Given the description of an element on the screen output the (x, y) to click on. 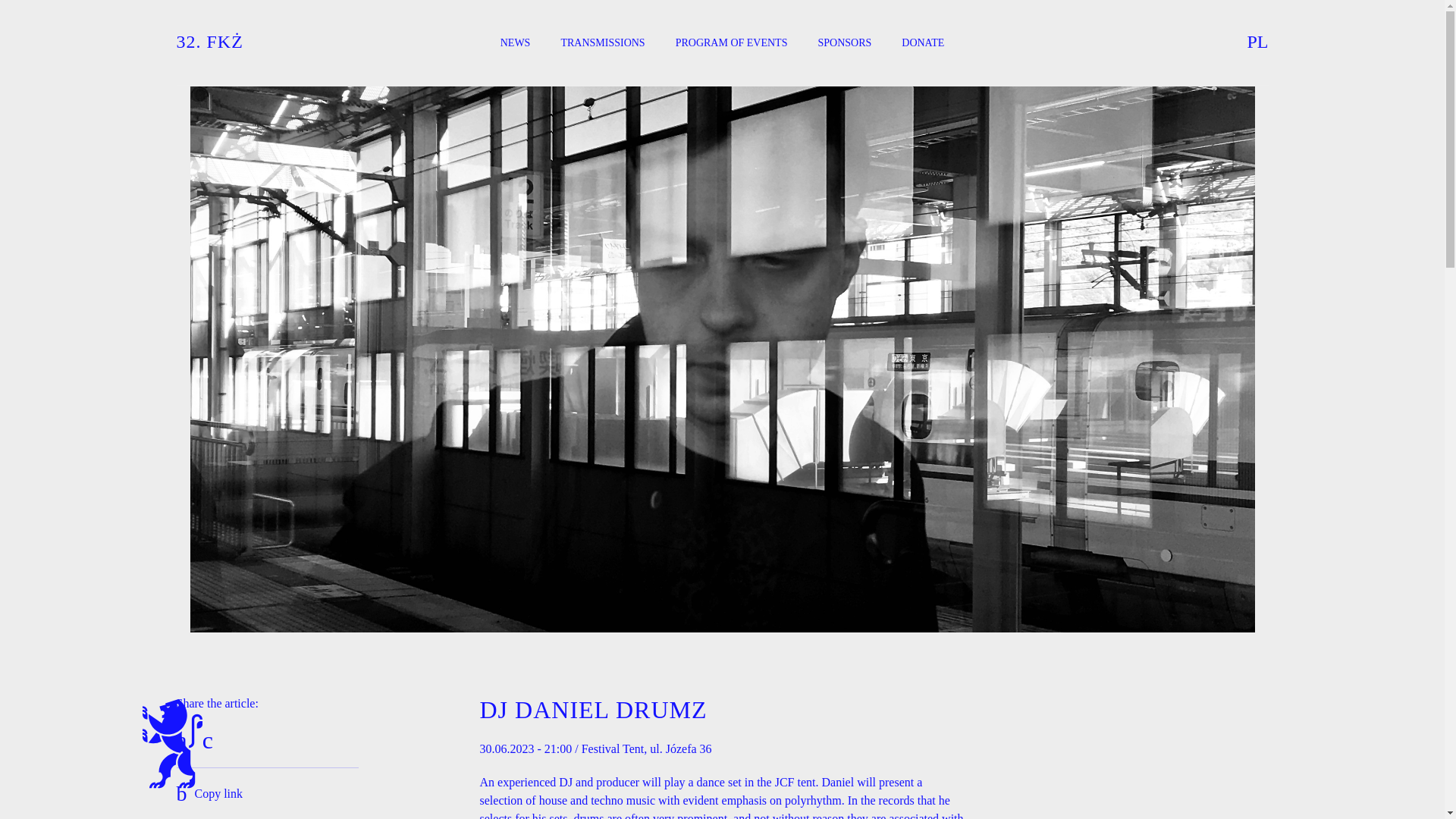
SPONSORS (843, 43)
PL (1257, 41)
PROGRAM OF EVENTS (731, 43)
NEWS (515, 43)
TRANSMISSIONS (602, 43)
Copy link (209, 793)
DONATE (922, 43)
